Given the description of an element on the screen output the (x, y) to click on. 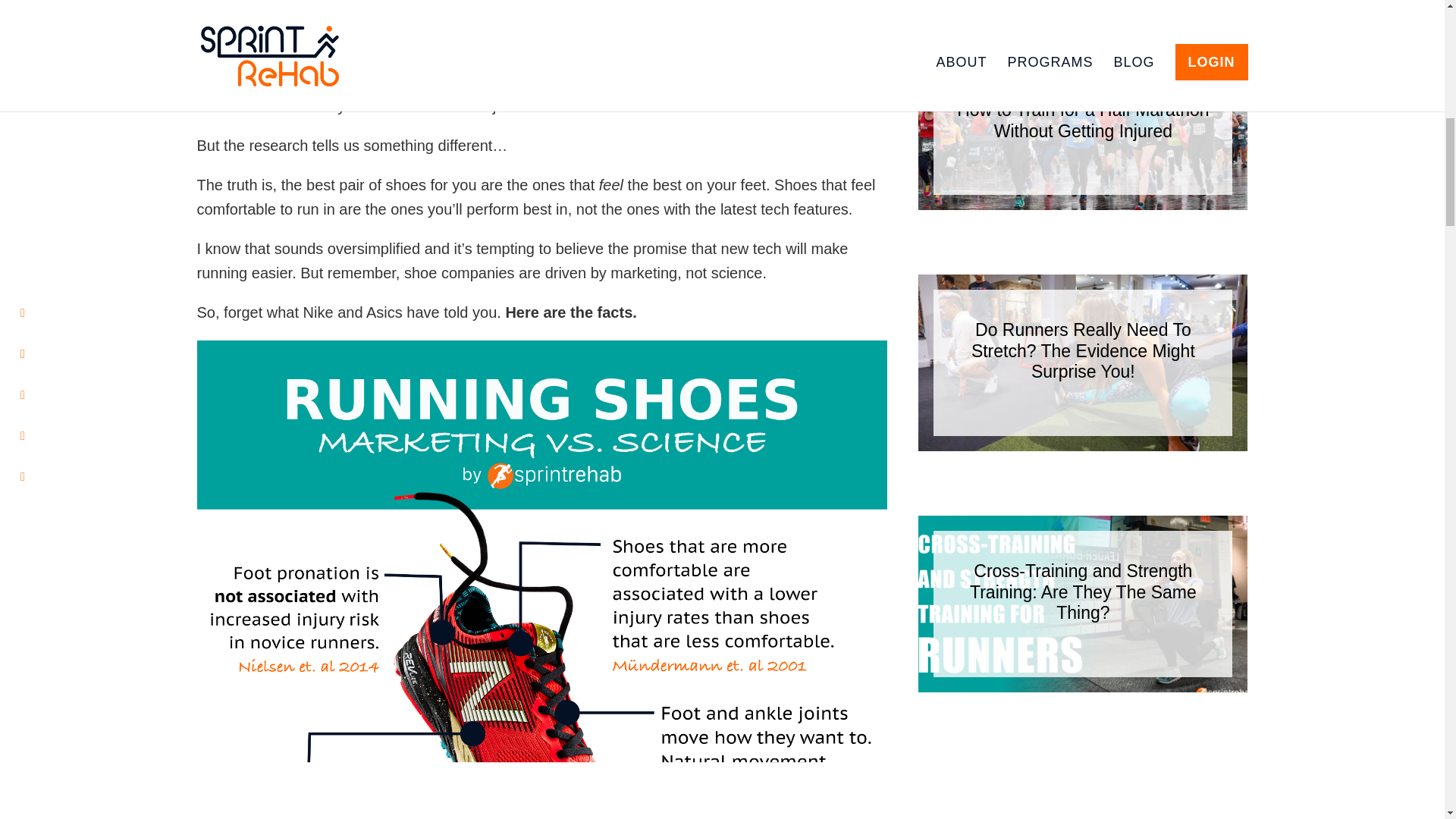
How to Train for a Half Marathon Without Getting Injured (1082, 119)
